Given the description of an element on the screen output the (x, y) to click on. 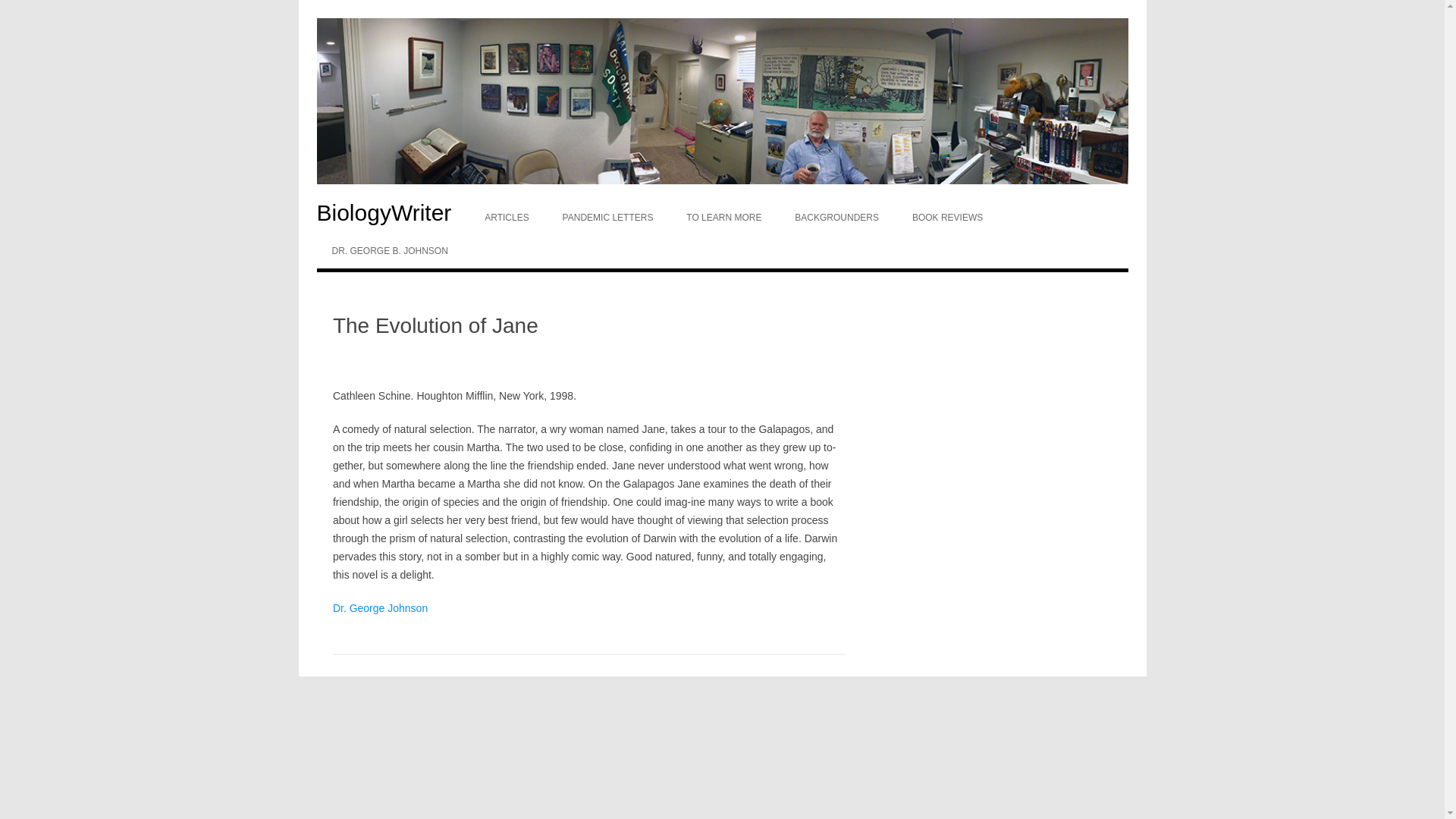
BOOK REVIEWS (946, 217)
PANDEMIC LETTERS (607, 217)
ARTICLES (505, 217)
BACKGROUNDERS (835, 217)
Skip to content (757, 205)
Skip to content (757, 205)
Dr. George Johnson (380, 607)
DR. GEORGE B. JOHNSON (390, 250)
TO LEARN MORE (723, 217)
BiologyWriter (392, 212)
